Given the description of an element on the screen output the (x, y) to click on. 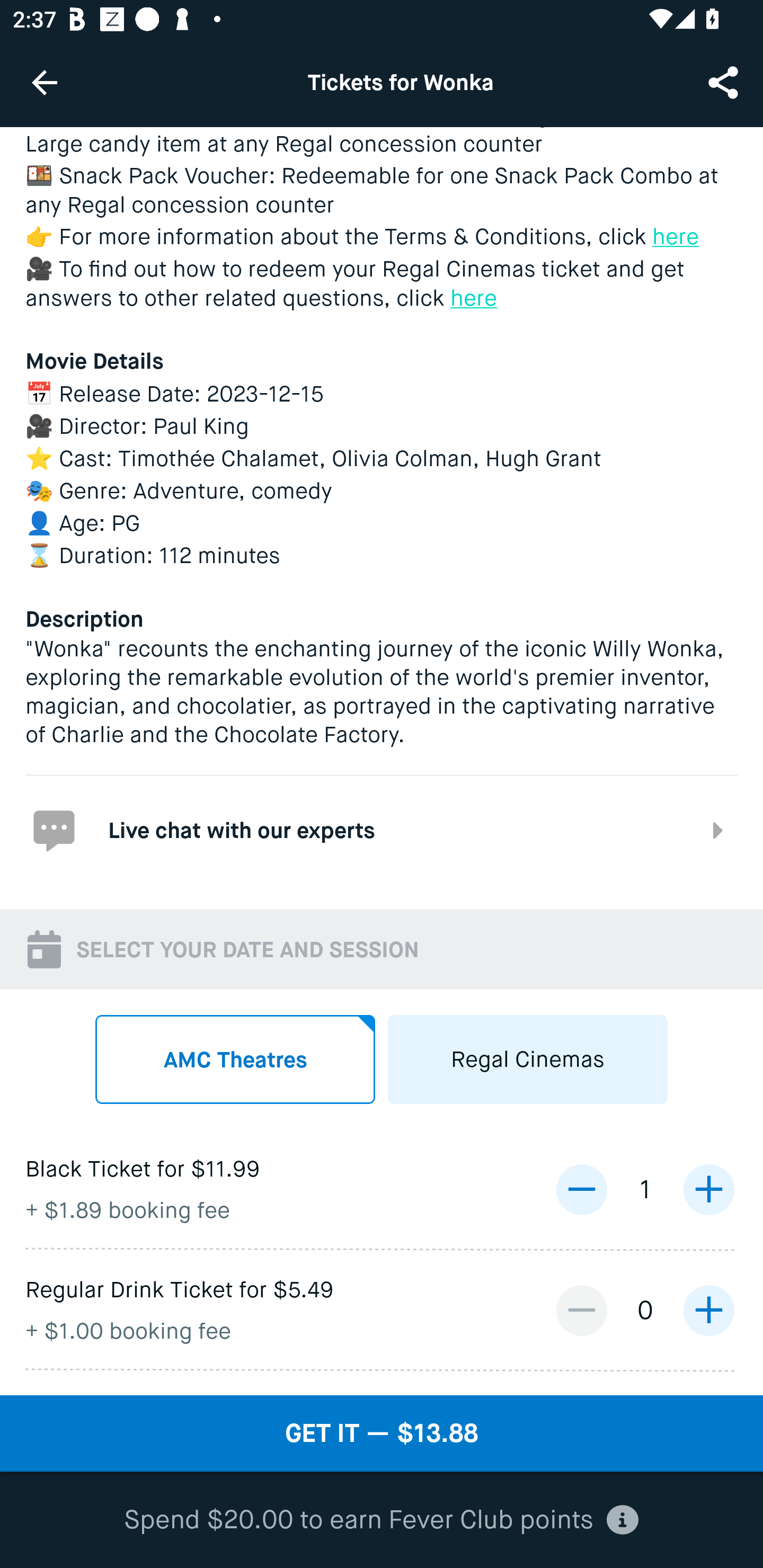
Navigate up (44, 82)
Share (724, 81)
Live chat with our experts (381, 829)
AMC Theatres (235, 1058)
Regal Cinemas (527, 1058)
decrease (581, 1188)
increase (708, 1188)
decrease (581, 1309)
increase (708, 1309)
GET IT — $13.88 (381, 1433)
Spend $20.00 to earn Fever Club points (381, 1519)
